Given the description of an element on the screen output the (x, y) to click on. 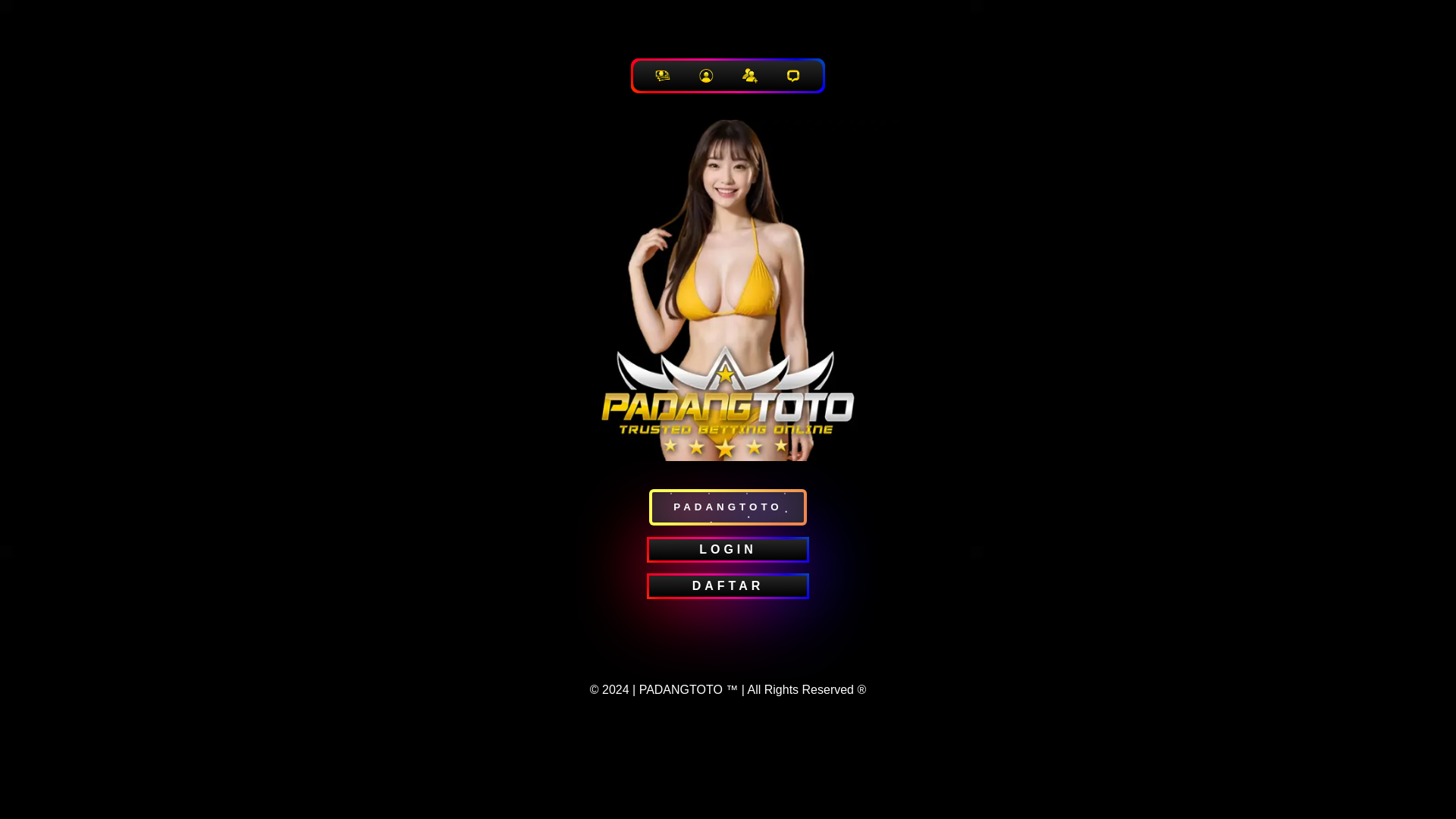
PADANGTOTO (680, 689)
PADANGTOTO (727, 506)
DAFTAR (727, 586)
LOGIN (727, 549)
